Given the description of an element on the screen output the (x, y) to click on. 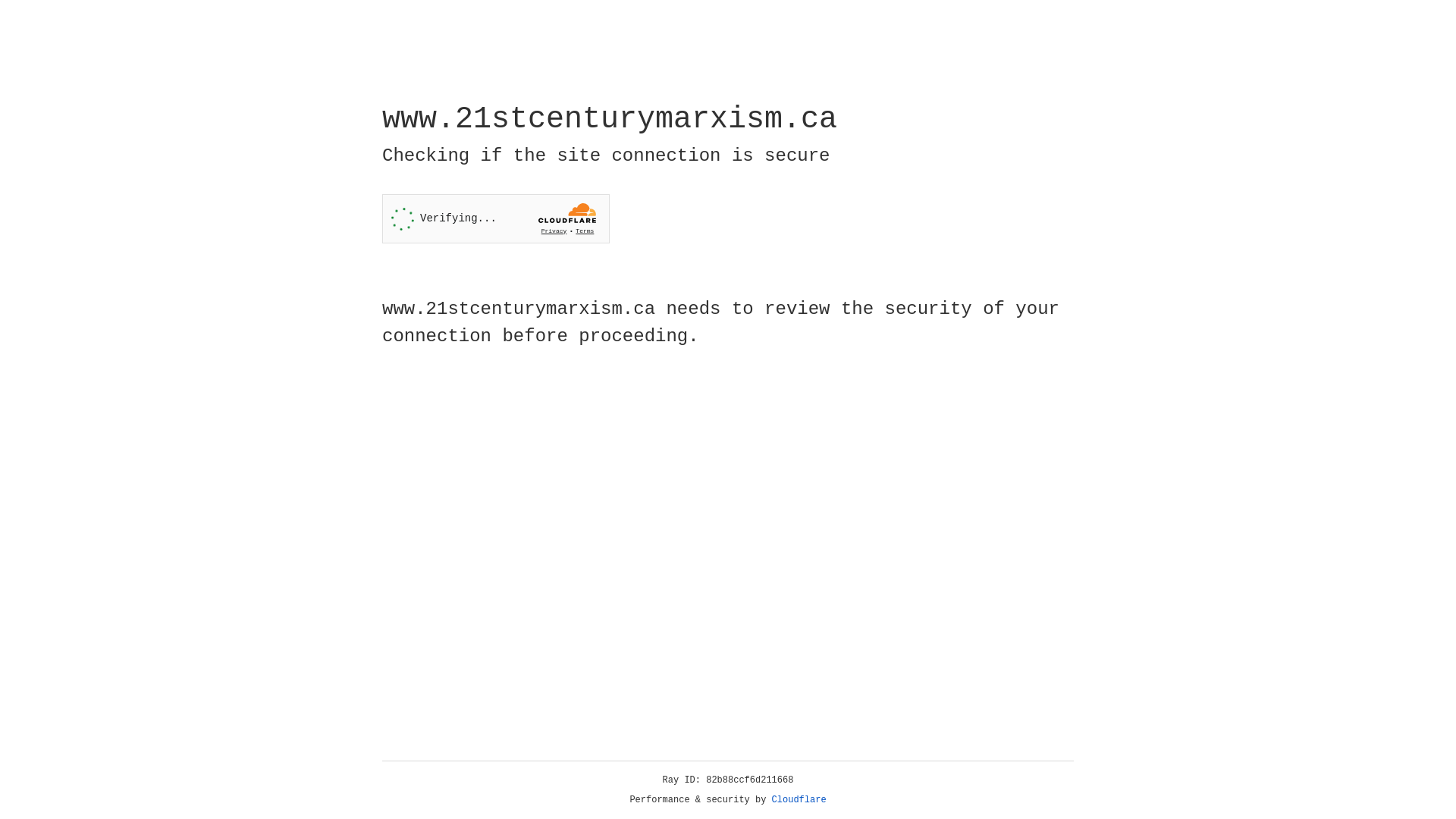
Widget containing a Cloudflare security challenge Element type: hover (495, 218)
Cloudflare Element type: text (798, 799)
